Given the description of an element on the screen output the (x, y) to click on. 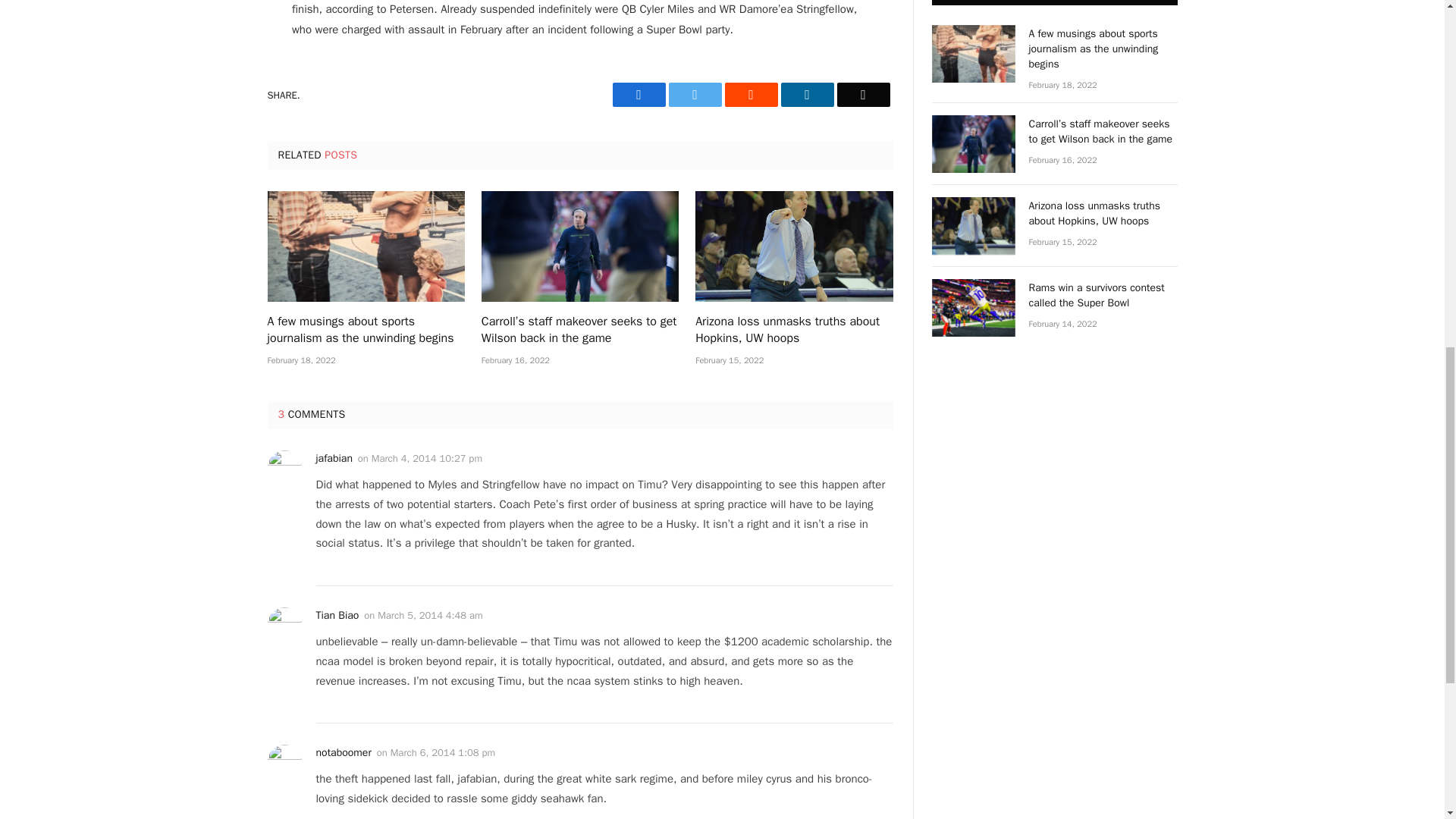
Reddit (751, 94)
LinkedIn (807, 94)
Email (863, 94)
Twitter (695, 94)
Facebook (638, 94)
